Given the description of an element on the screen output the (x, y) to click on. 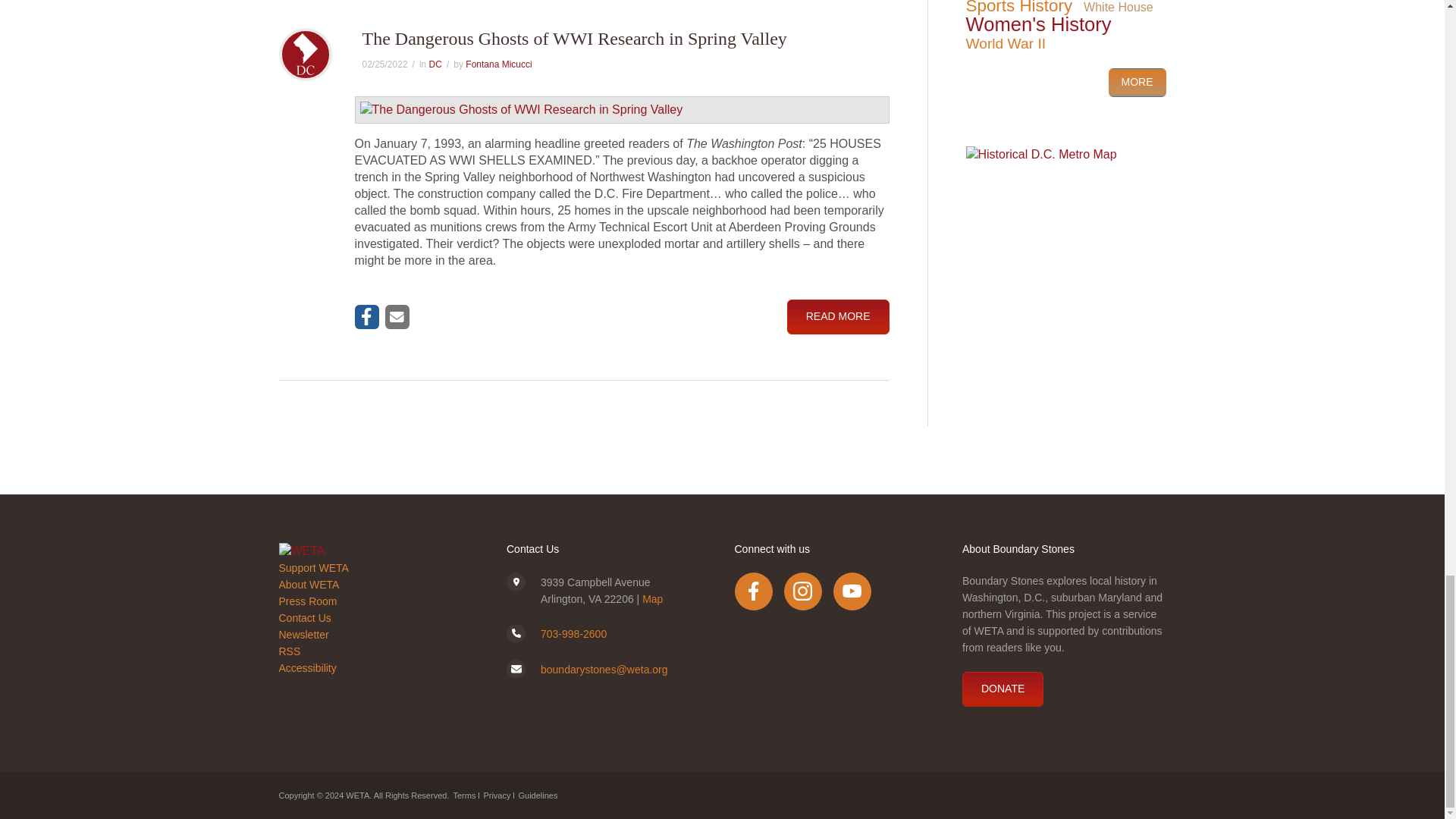
DC (435, 63)
View user profile. (498, 63)
Fontana Micucci (498, 63)
The Dangerous Ghosts of WWI Research in Spring Valley (574, 38)
